Given the description of an element on the screen output the (x, y) to click on. 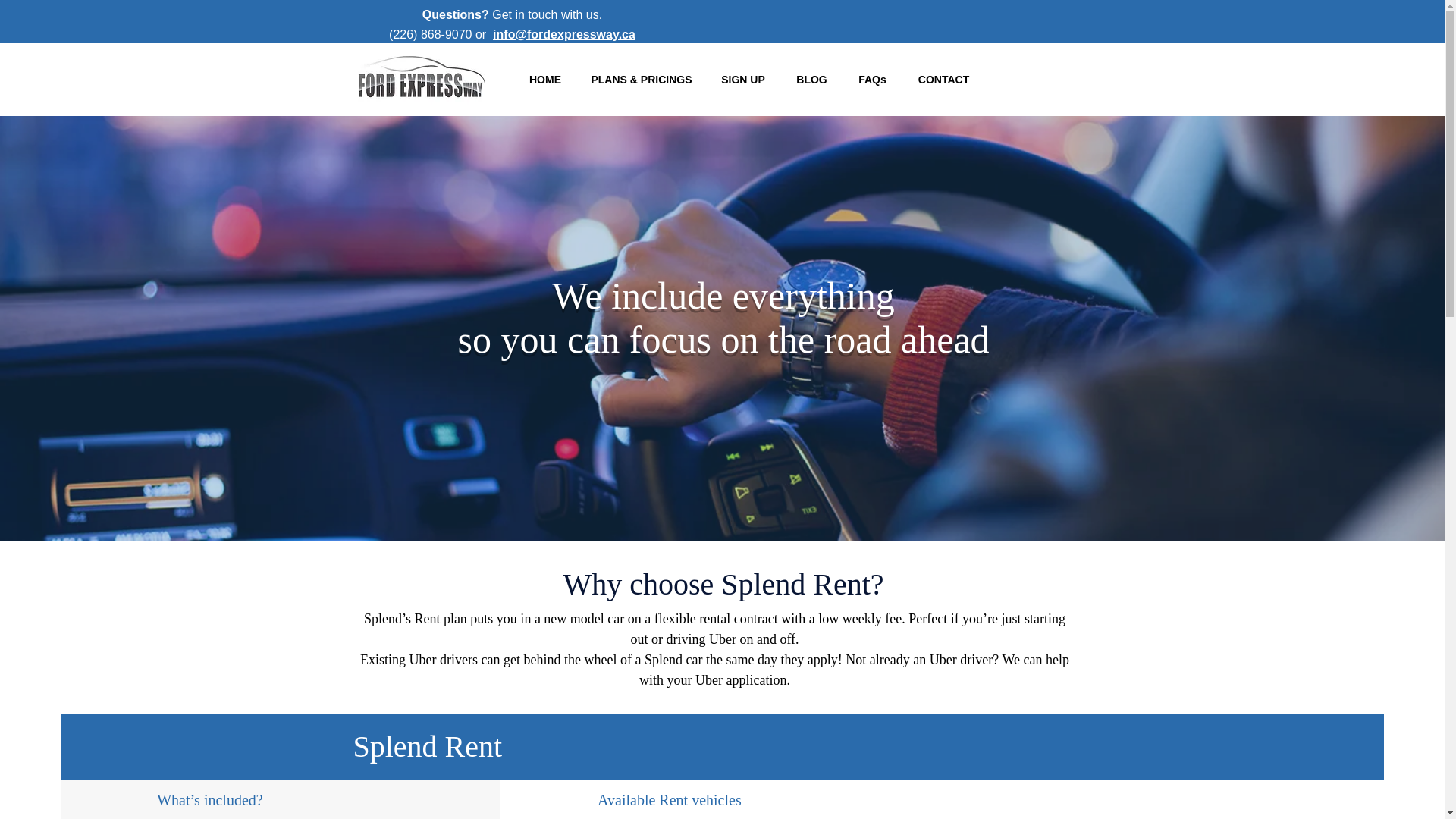
SIGN UP (742, 79)
HOME (544, 79)
CONTACT (943, 79)
BLOG (811, 79)
